Given the description of an element on the screen output the (x, y) to click on. 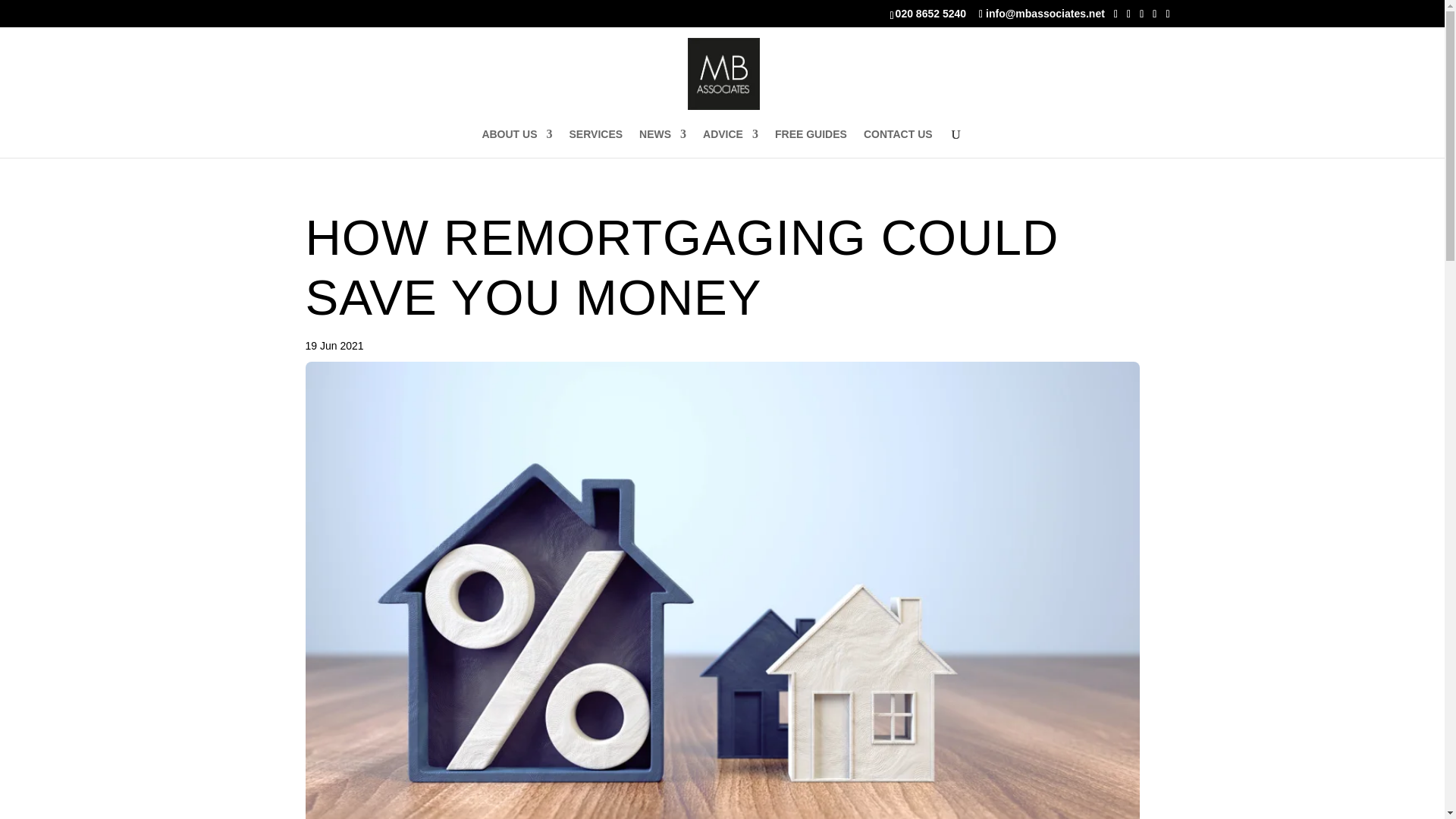
FREE GUIDES (810, 143)
SERVICES (596, 143)
ABOUT US (516, 143)
CONTACT US (898, 143)
ADVICE (730, 143)
NEWS (662, 143)
